Given the description of an element on the screen output the (x, y) to click on. 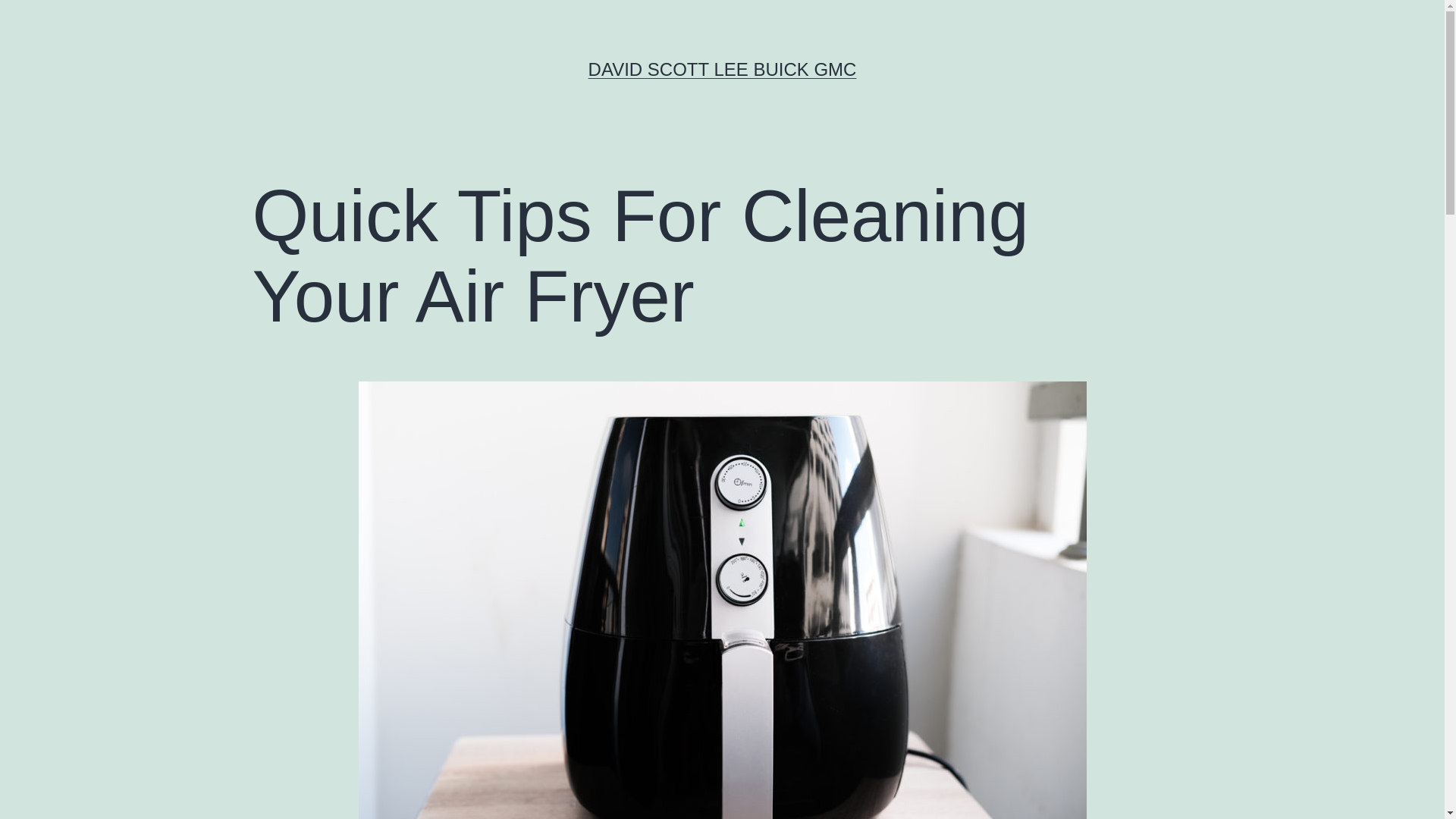
DAVID SCOTT LEE BUICK GMC (722, 68)
